Given the description of an element on the screen output the (x, y) to click on. 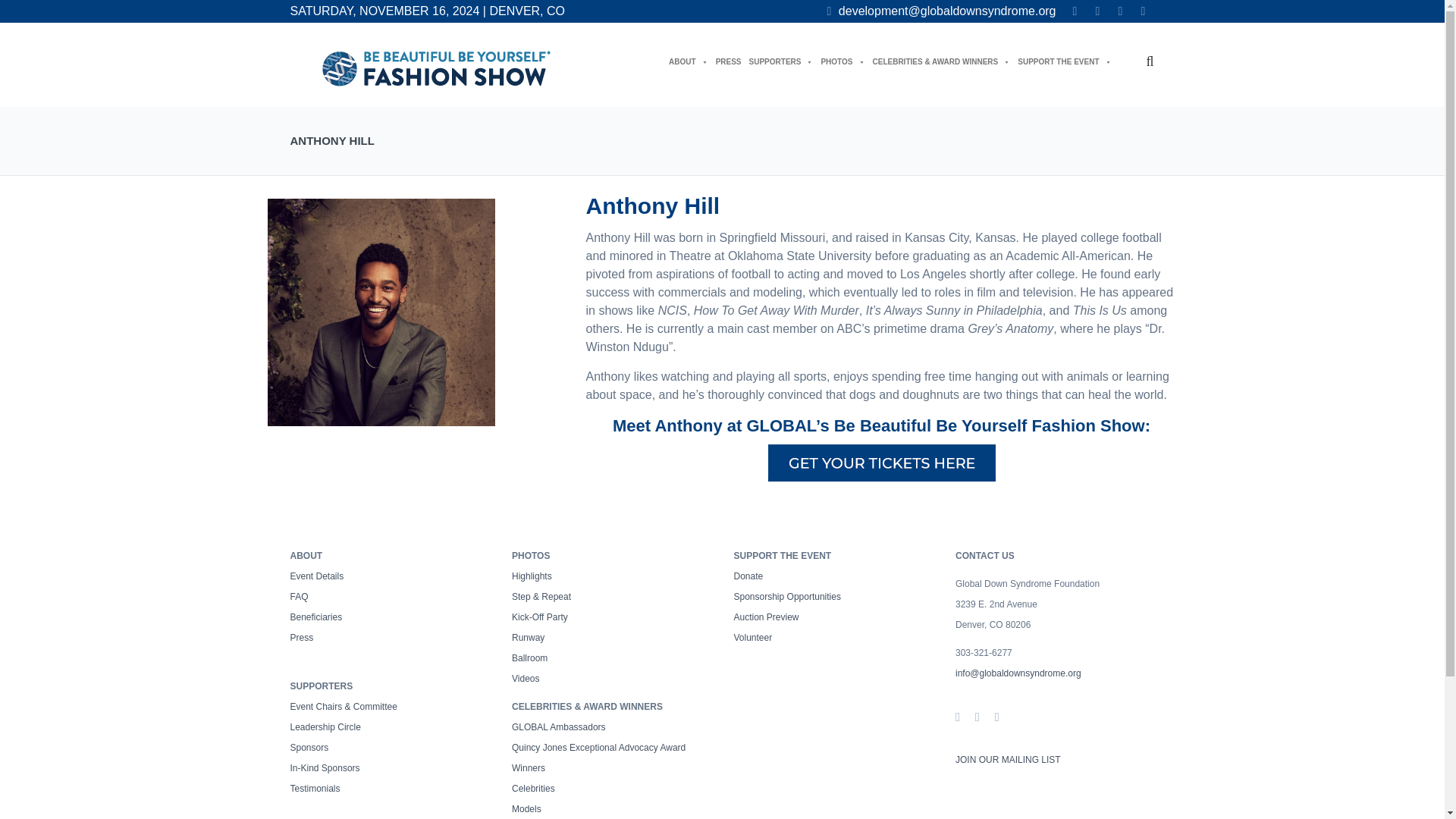
SUPPORT THE EVENT (1063, 61)
Be Beautiful Be Yourself Fashion Show (434, 67)
ABOUT (687, 61)
twitter (1097, 11)
FAQ (298, 596)
PHOTOS (842, 61)
facebook (1074, 11)
SUPPORTERS (781, 61)
email (941, 11)
Event Details (316, 575)
youtube-play (1142, 11)
instagram (1119, 11)
